Given the description of an element on the screen output the (x, y) to click on. 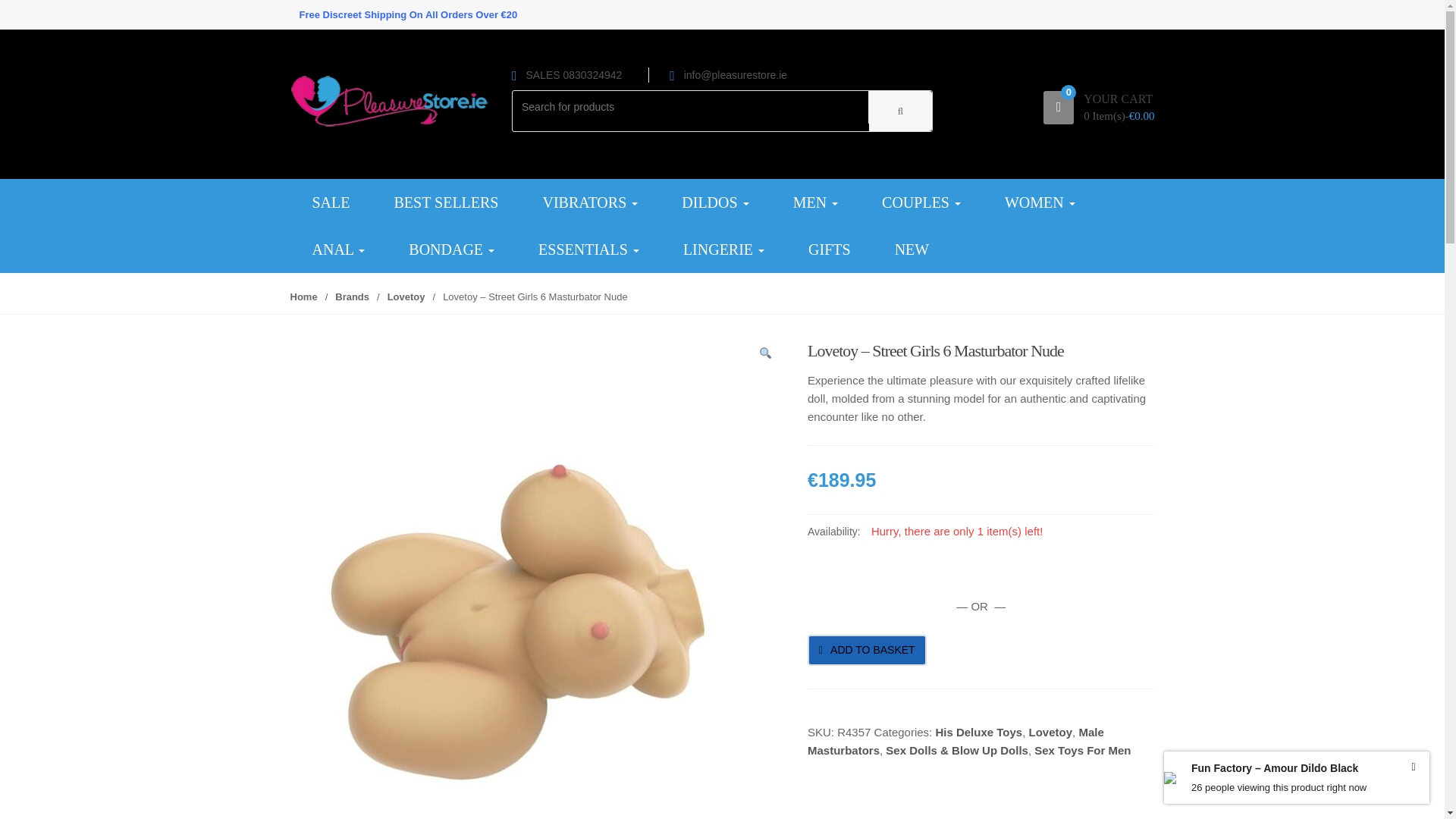
SALE (330, 202)
Vibrators (589, 202)
Best Sellers (445, 202)
Sale (330, 202)
BEST SELLERS (445, 202)
DILDOS (714, 202)
VIBRATORS (589, 202)
